Given the description of an element on the screen output the (x, y) to click on. 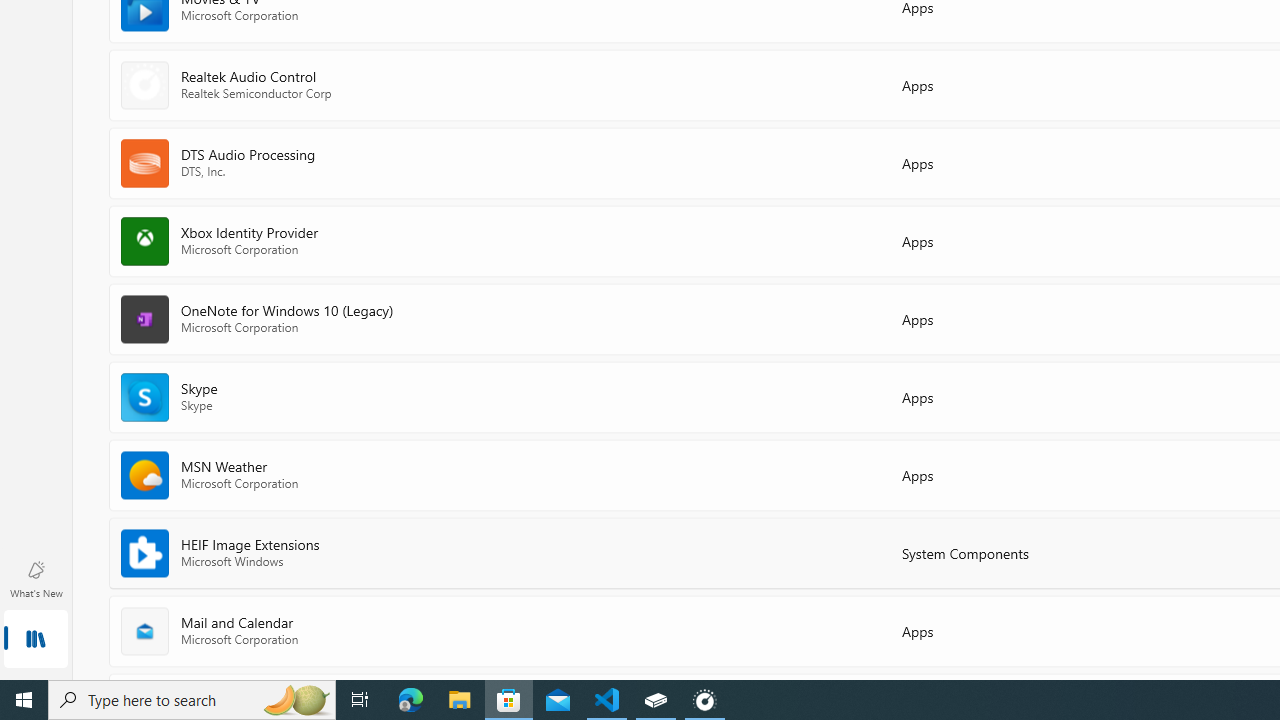
Library (35, 640)
What's New (35, 578)
